Given the description of an element on the screen output the (x, y) to click on. 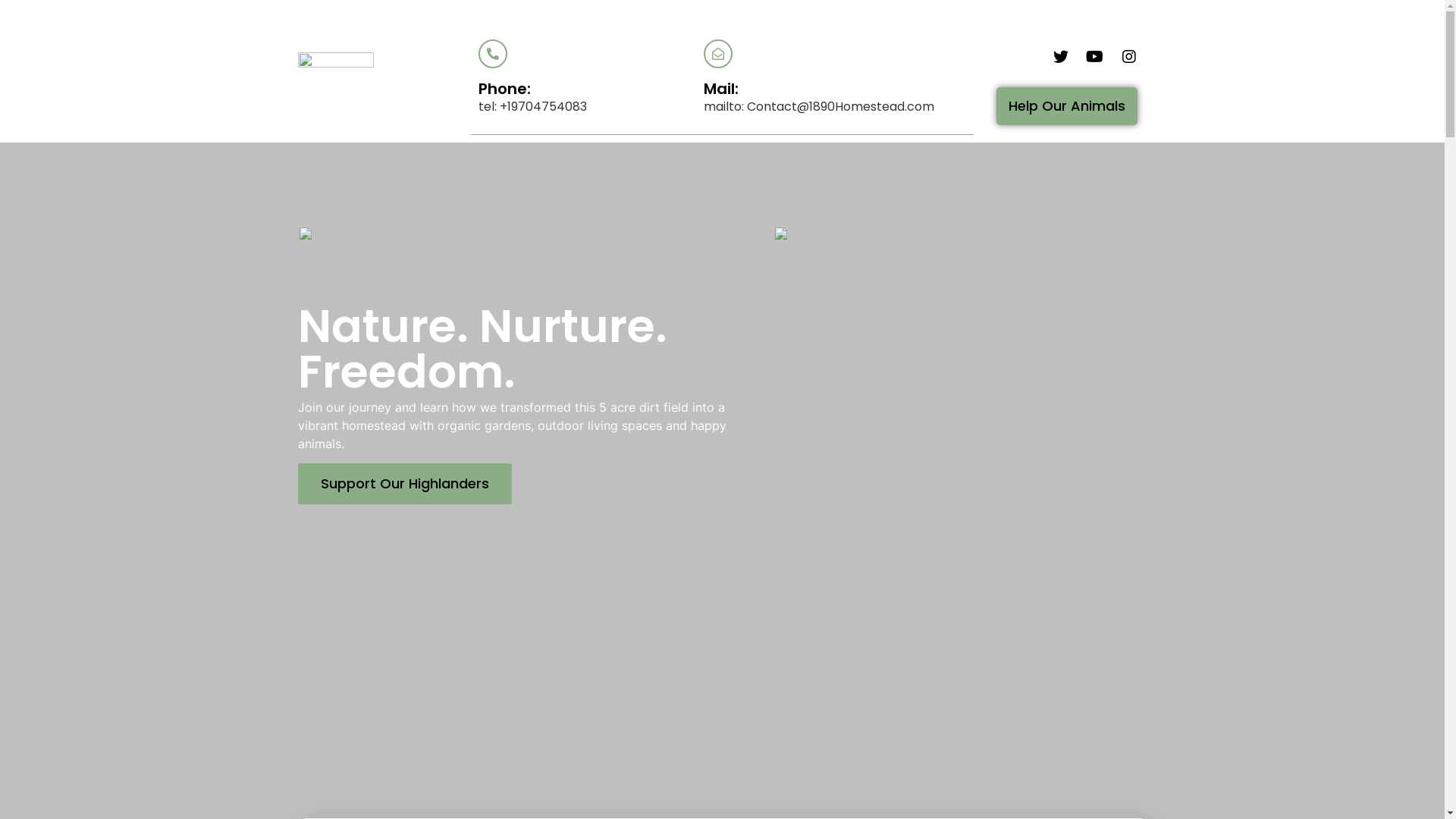
Support Our Highlanders Element type: text (404, 483)
Help Our Animals Element type: text (1066, 106)
